Given the description of an element on the screen output the (x, y) to click on. 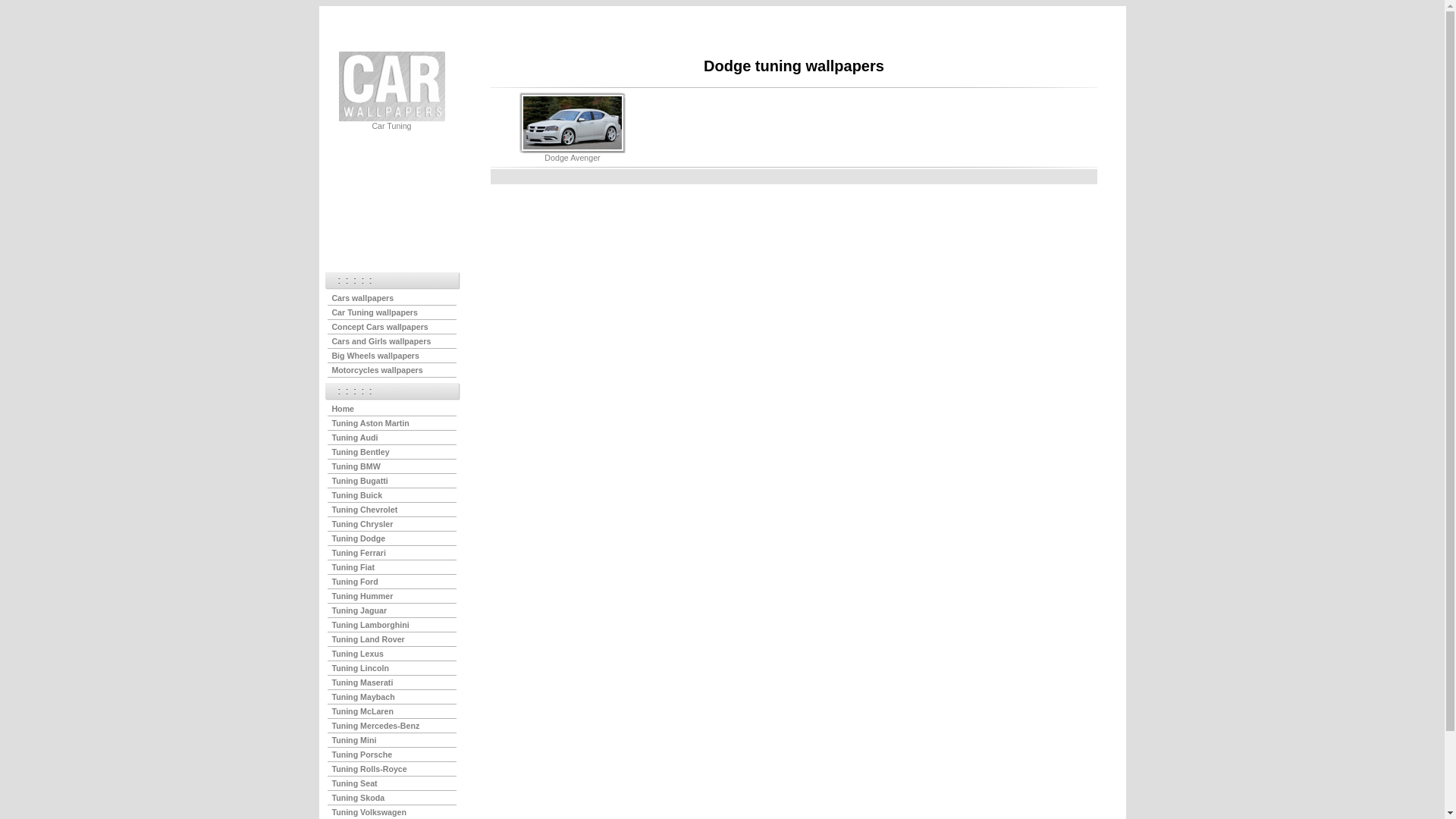
Tuning Lexus Element type: text (356, 653)
Tuning Ford Element type: text (354, 581)
Tuning Rolls-Royce Element type: text (368, 768)
Tuning Audi Element type: text (354, 437)
Tuning Fiat Element type: text (352, 566)
Tuning Mini Element type: text (353, 739)
Dodge Avenger Element type: text (571, 157)
Tuning Volkswagen Element type: text (368, 811)
Tuning BMW Element type: text (355, 465)
Concept Cars wallpapers Element type: text (379, 326)
Tuning Ferrari Element type: text (358, 552)
Tuning Maybach Element type: text (362, 696)
Tuning Buick Element type: text (356, 494)
Tuning McLaren Element type: text (362, 710)
Home Element type: text (342, 408)
Tuning Land Rover Element type: text (367, 638)
Tuning Porsche Element type: text (361, 754)
Tuning Skoda Element type: text (357, 797)
Tuning Hummer Element type: text (361, 595)
Tuning Seat Element type: text (353, 782)
Tuning Chrysler Element type: text (361, 523)
Tuning Maserati Element type: text (361, 682)
Cars wallpapers Element type: text (362, 297)
Cars and Girls wallpapers Element type: text (380, 340)
Tuning Chevrolet Element type: text (364, 509)
Tuning Bentley Element type: text (360, 451)
Tuning Dodge Element type: text (358, 537)
Tuning Aston Martin Element type: text (369, 422)
Car Tuning wallpapers Element type: text (374, 311)
Car Tuning Element type: text (391, 125)
Motorcycles wallpapers Element type: text (376, 369)
Tuning Mercedes-Benz Element type: text (375, 725)
Big Wheels wallpapers Element type: text (374, 355)
Tuning Lamborghini Element type: text (369, 624)
Tuning Jaguar Element type: text (358, 610)
Tuning Lincoln Element type: text (360, 667)
Tuning Bugatti Element type: text (359, 480)
